Given the description of an element on the screen output the (x, y) to click on. 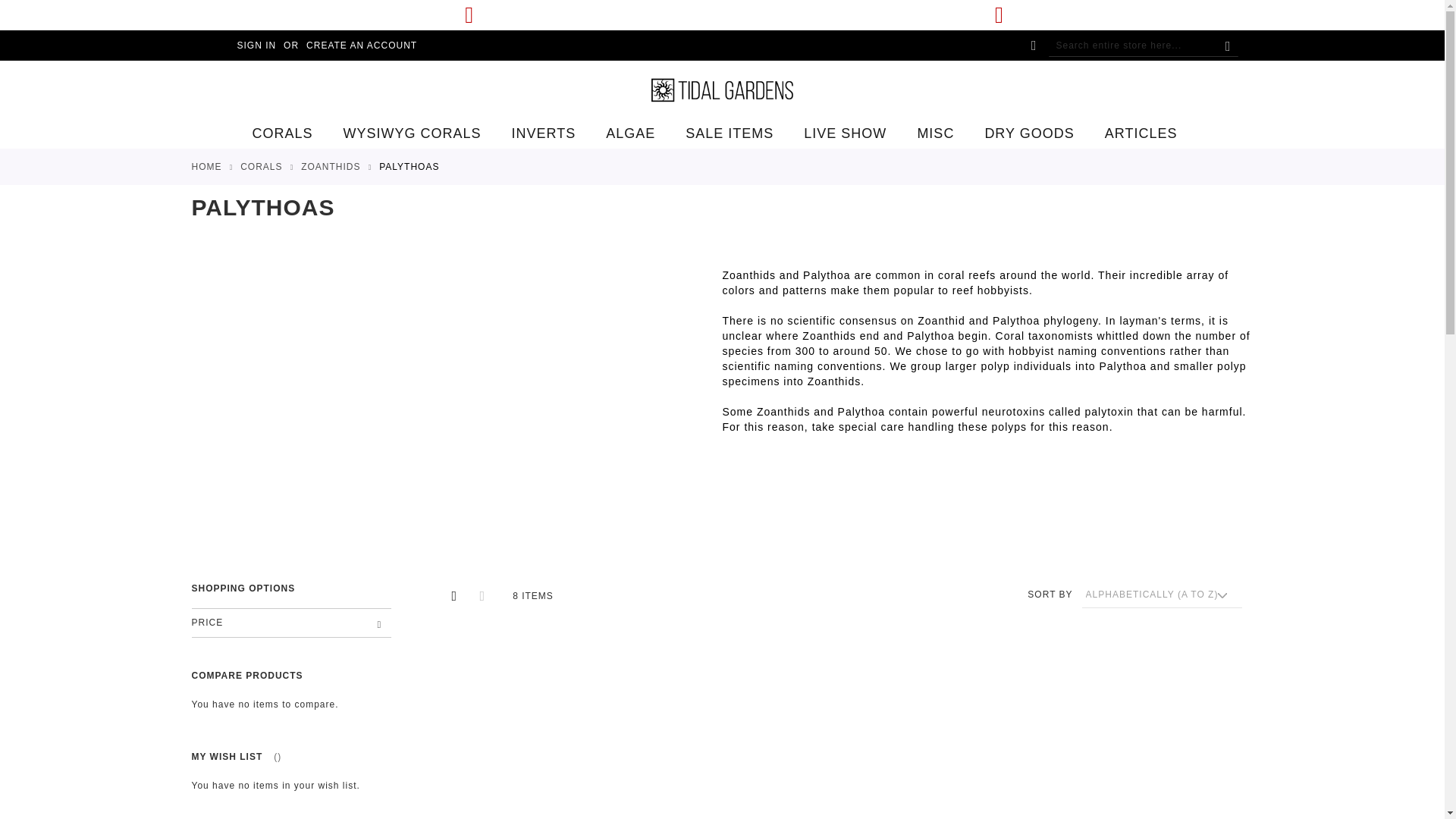
SALE ITEMS (729, 133)
ARTICLES (1140, 133)
List (480, 595)
MISC (935, 133)
ALGAE (630, 133)
Grid (453, 595)
CREATE AN ACCOUNT (360, 45)
WYSIWYG CORALS (412, 133)
Go to Home Page (205, 166)
CORALS (290, 607)
LIVE SHOW (290, 133)
INVERTS (845, 133)
SIGN IN (543, 133)
